Given the description of an element on the screen output the (x, y) to click on. 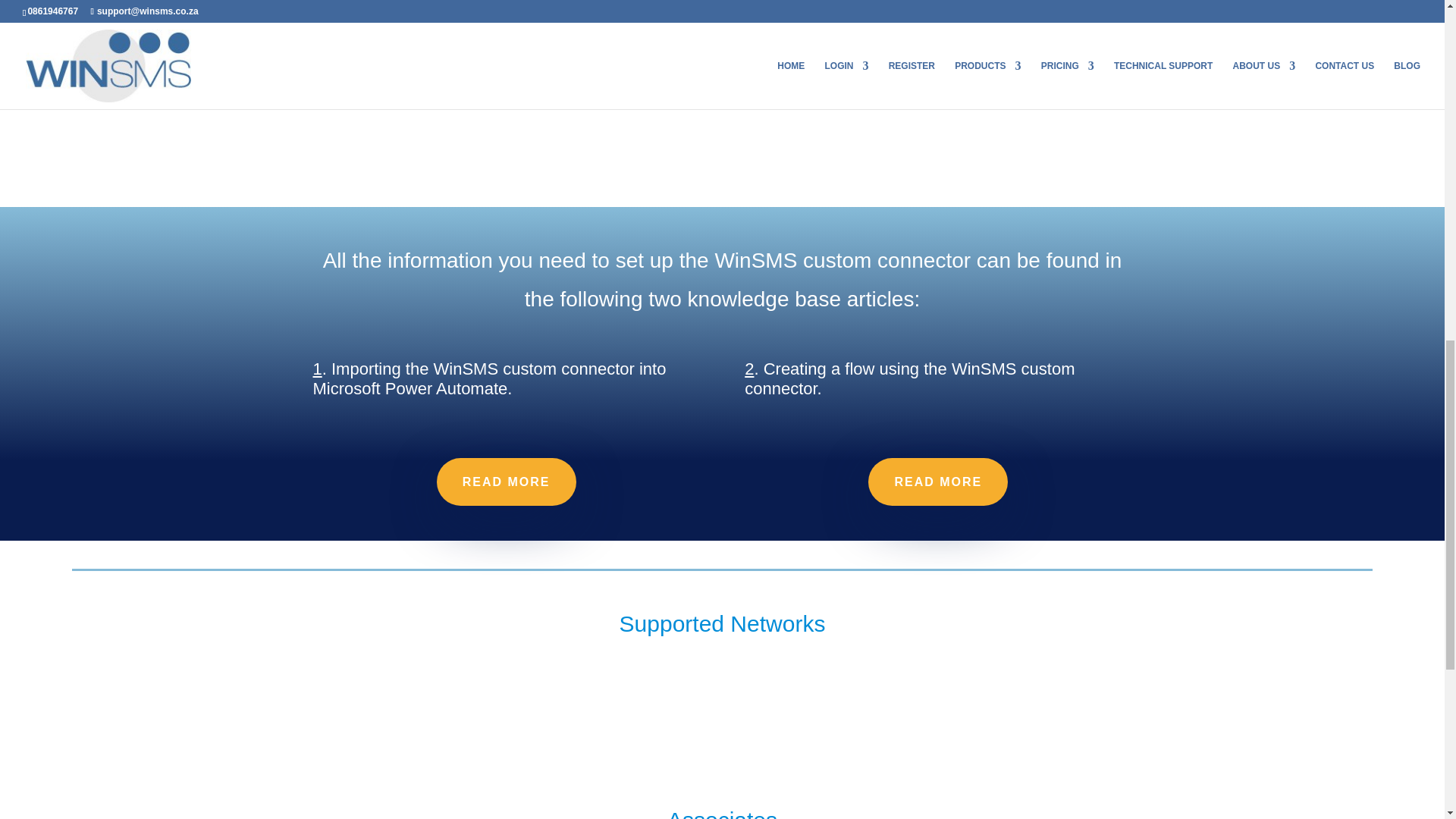
MTN SMS (550, 689)
READ MORE (937, 481)
Microsoft Power Automate SMS Connector 2 (420, 38)
Vodacom SMS (207, 689)
Telkom Mobile (1236, 715)
READ MORE (506, 481)
Cell-C SMS (893, 689)
